Given the description of an element on the screen output the (x, y) to click on. 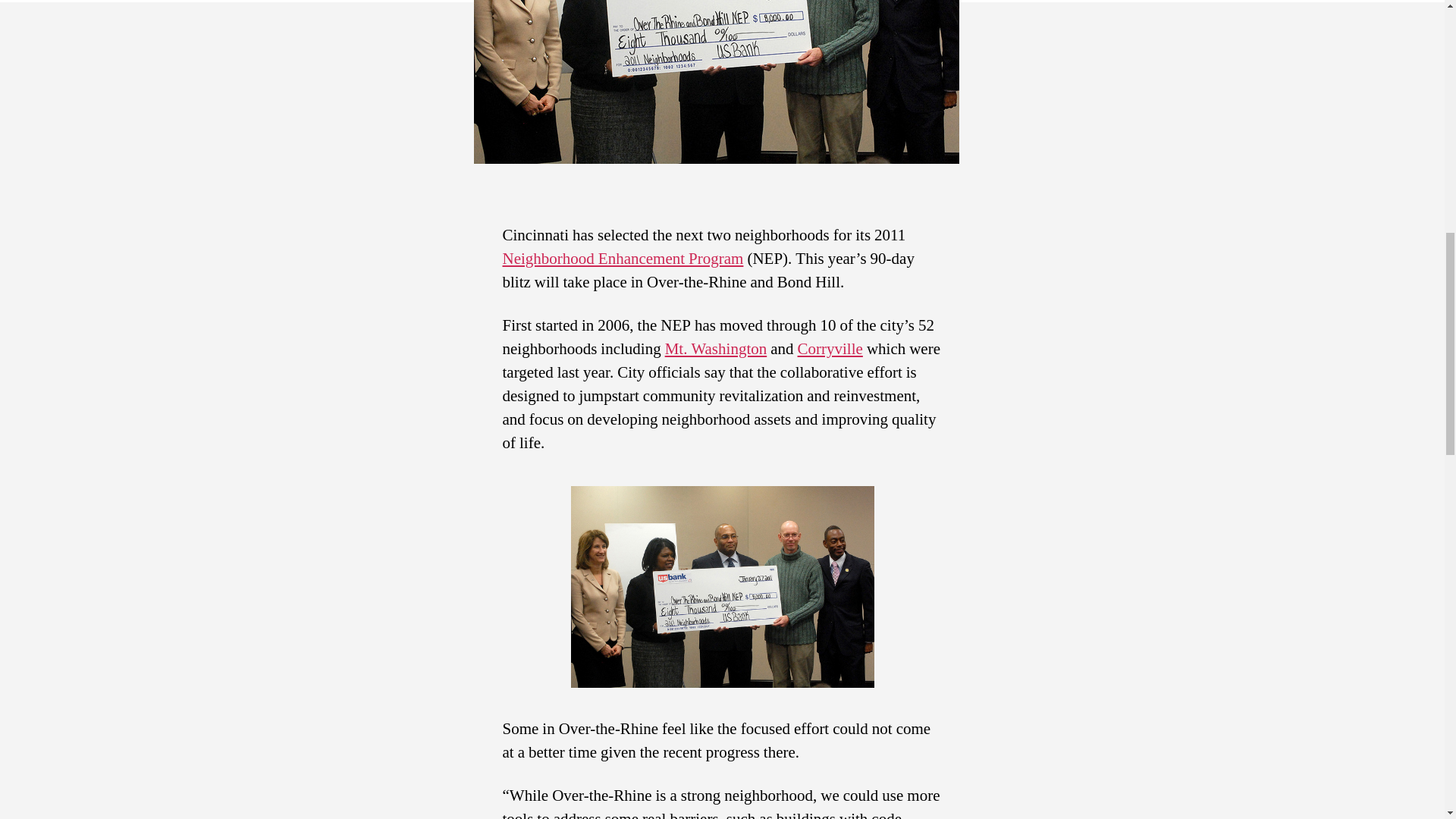
Neighborhood Enhancement Program (622, 258)
2011 Neighborhood Enhancement Program Announcement (721, 586)
Corryville (830, 349)
Mt. Washington (716, 349)
